Given the description of an element on the screen output the (x, y) to click on. 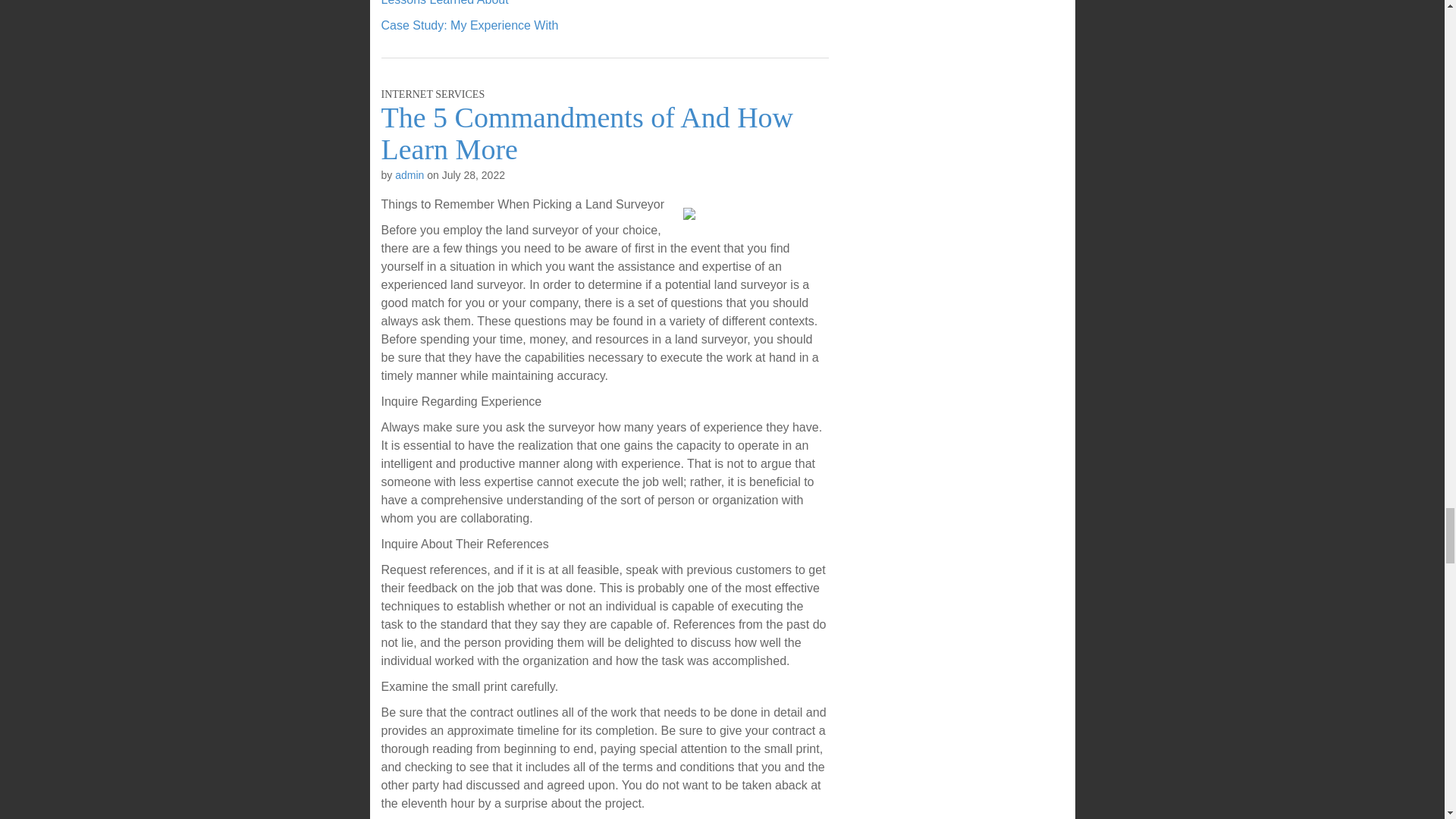
Posts by admin (408, 174)
